Given the description of an element on the screen output the (x, y) to click on. 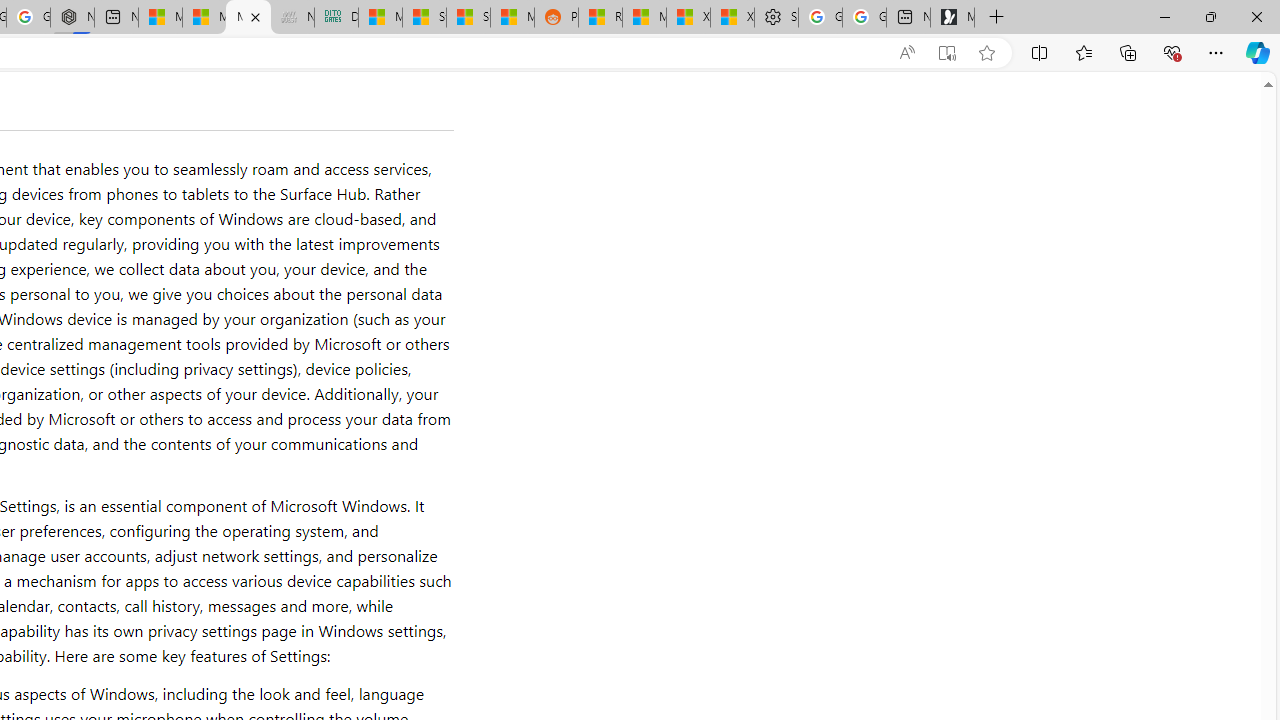
MSN (512, 17)
R******* | Trusted Community Engagement and Contributions (600, 17)
Nordace - Nordace Siena Is Not An Ordinary Backpack (72, 17)
DITOGAMES AG Imprint (336, 17)
Stocks - MSN (468, 17)
